Given the description of an element on the screen output the (x, y) to click on. 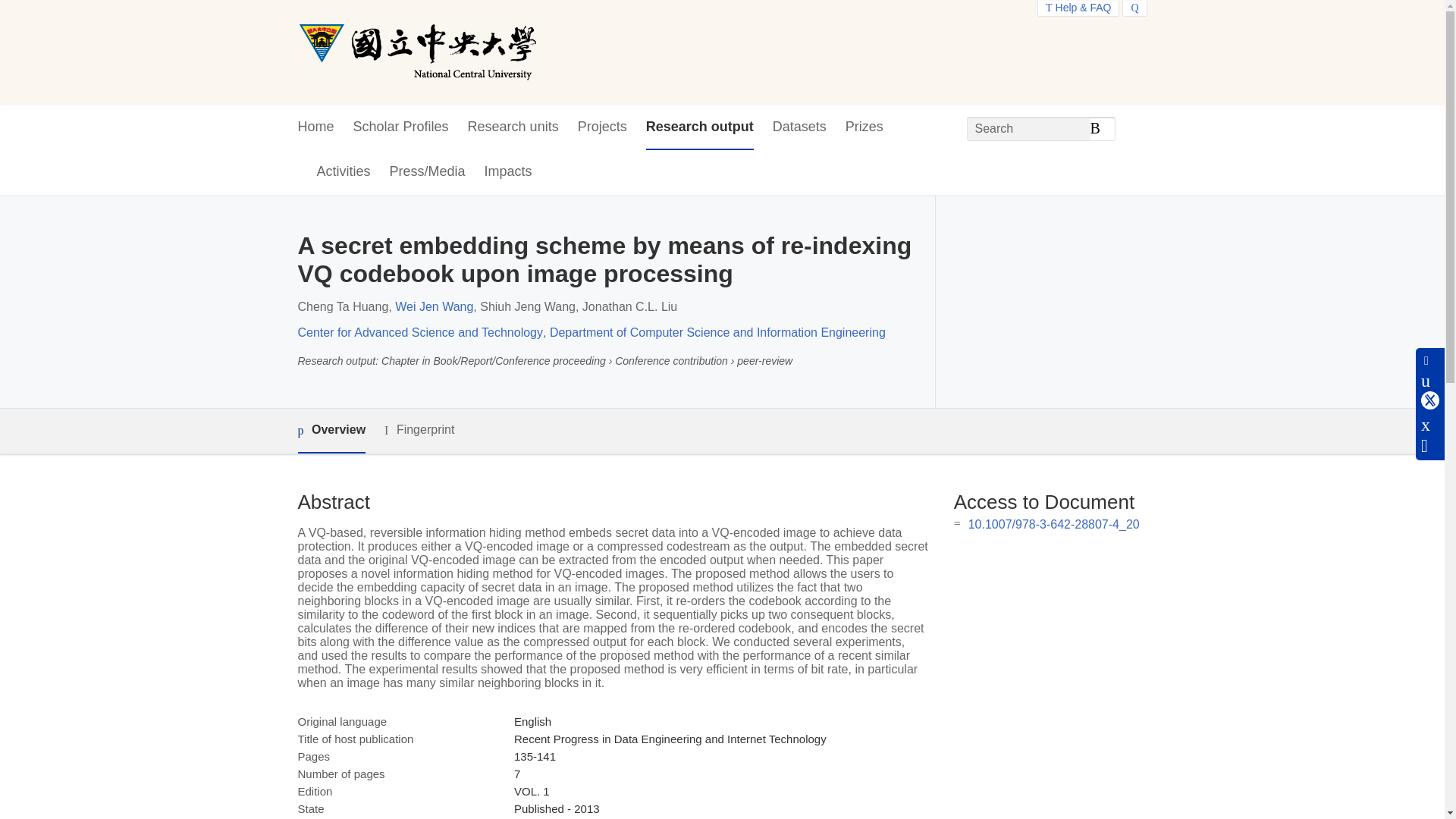
Wei Jen Wang (433, 306)
Scholar Profiles (400, 127)
National Central University Home (418, 52)
Department of Computer Science and Information Engineering (717, 332)
Projects (602, 127)
Activities (344, 171)
Fingerprint (419, 430)
Research units (513, 127)
Overview (331, 430)
Impacts (508, 171)
Datasets (800, 127)
Research output (700, 127)
Center for Advanced Science and Technology (419, 332)
